Given the description of an element on the screen output the (x, y) to click on. 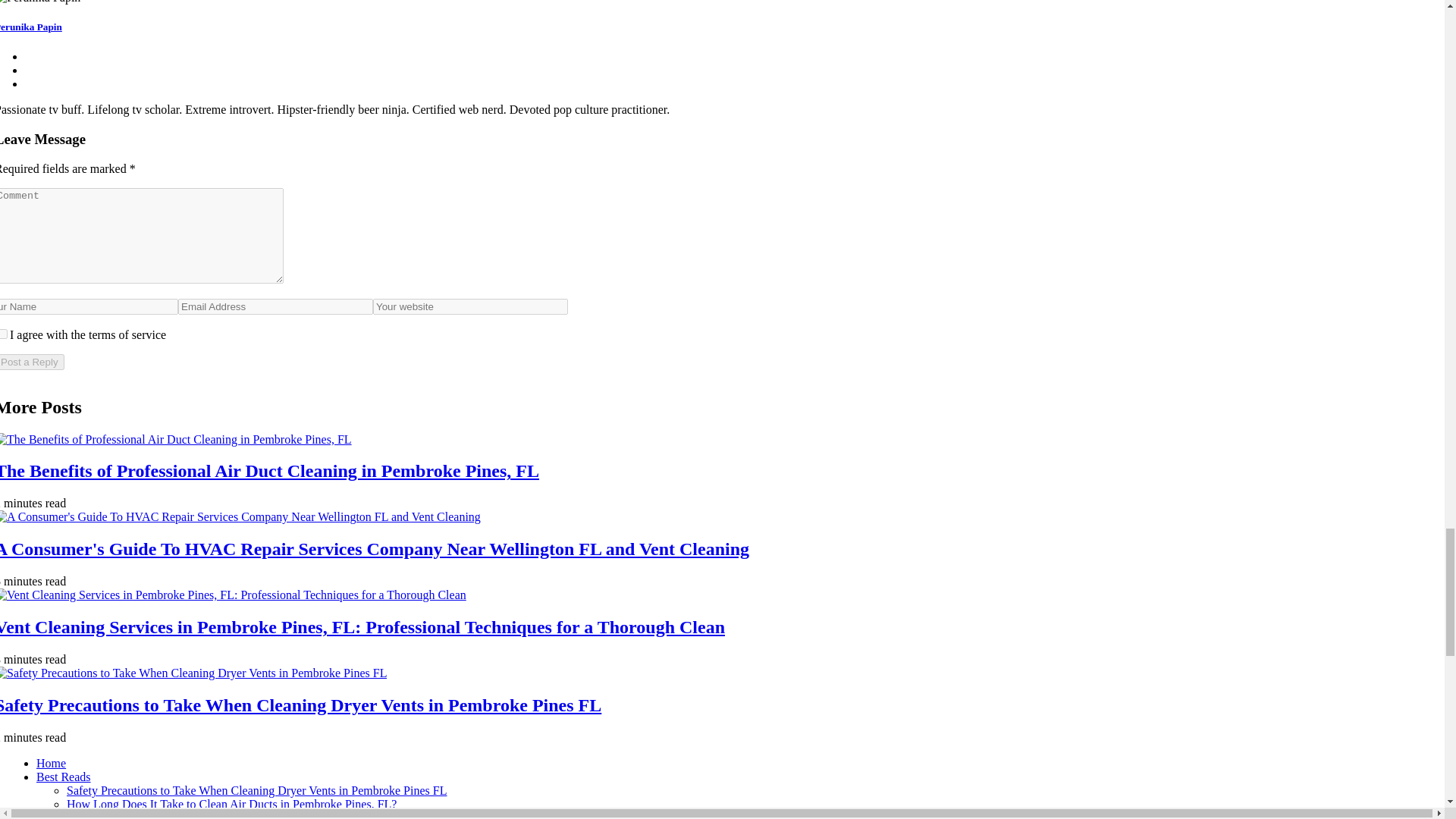
Post a Reply (32, 361)
Post a Reply (32, 361)
Perunika Papin (31, 26)
